Given the description of an element on the screen output the (x, y) to click on. 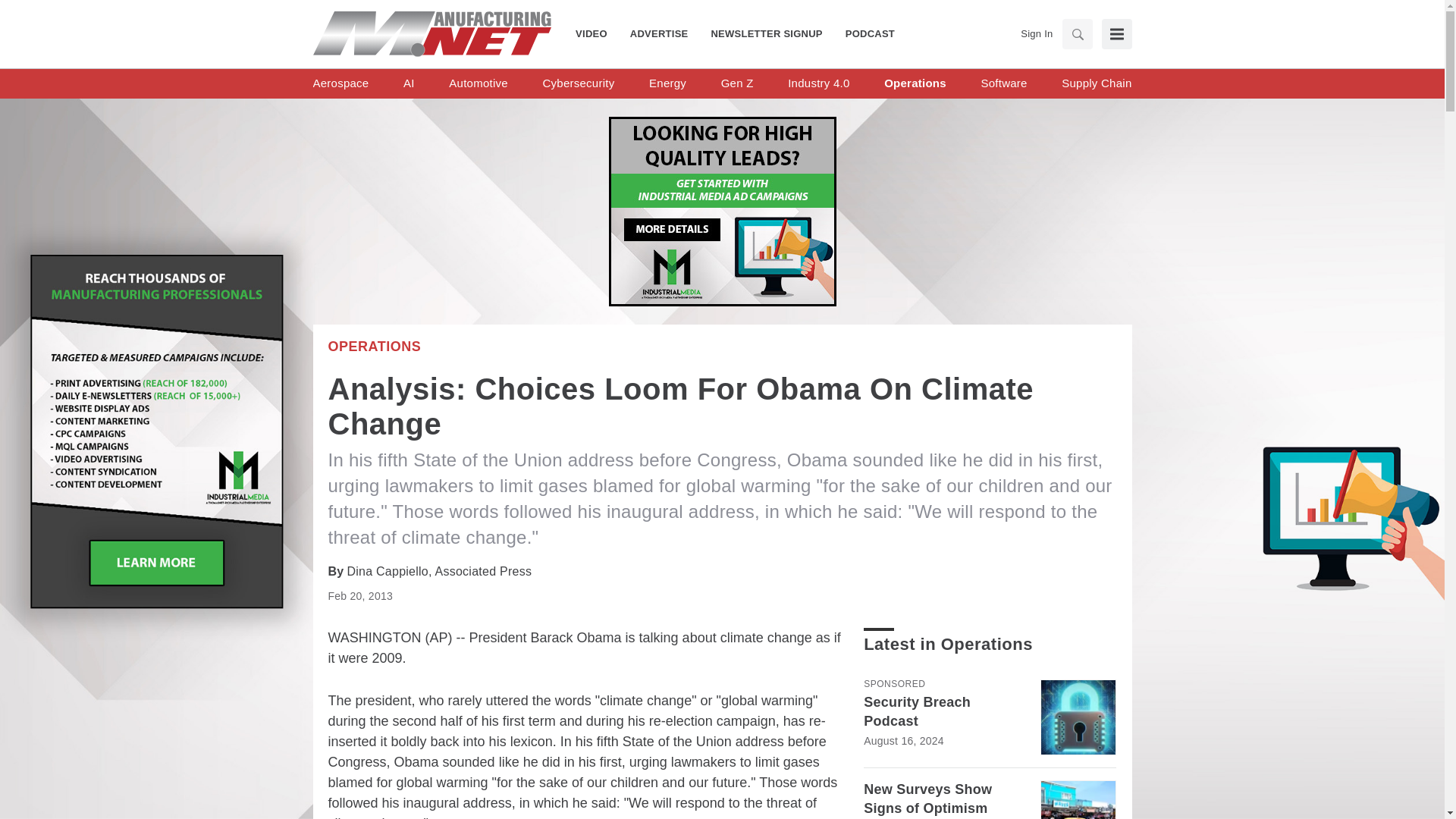
ADVERTISE (659, 33)
Energy (667, 83)
Cybersecurity (577, 83)
Gen Z (737, 83)
VIDEO (596, 33)
Operations (373, 346)
Automotive (478, 83)
Sign In (1036, 33)
PODCAST (864, 33)
